Given the description of an element on the screen output the (x, y) to click on. 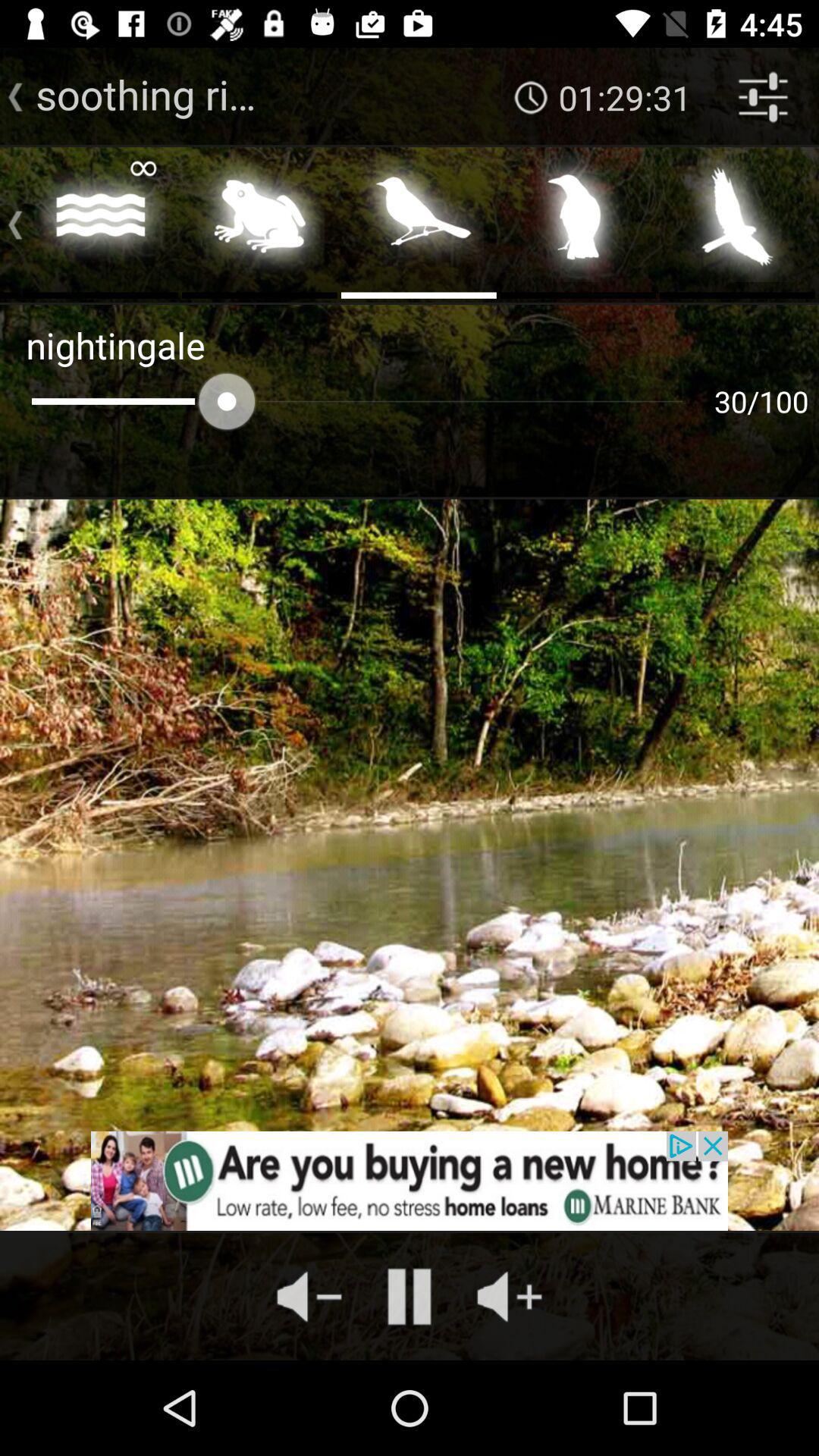
advertisement click (409, 1180)
